Given the description of an element on the screen output the (x, y) to click on. 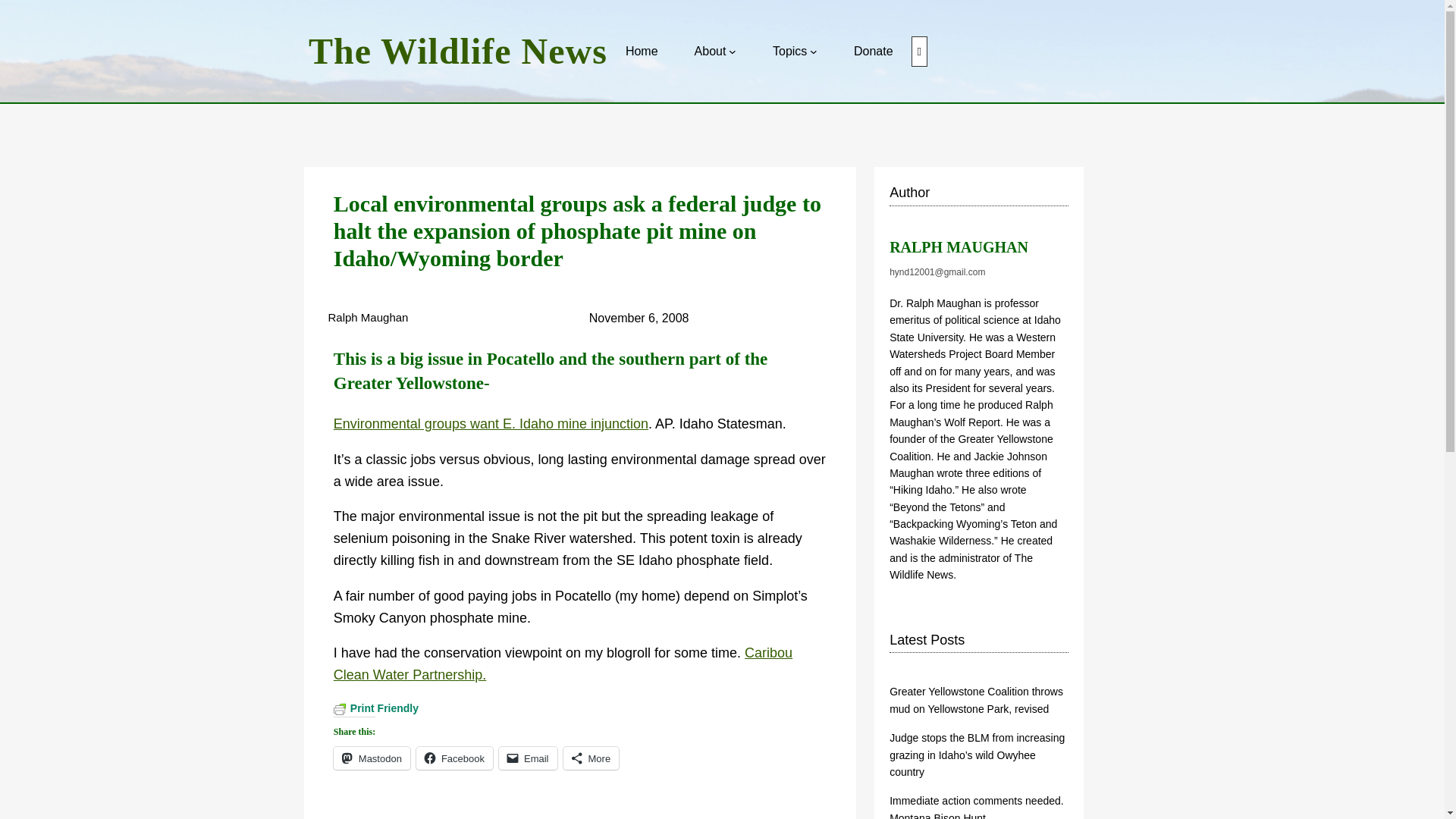
Click to share on Mastodon (371, 757)
Click to email a link to a friend (528, 757)
About (710, 51)
Home (642, 51)
Click to share on Facebook (454, 757)
The Wildlife News (457, 51)
Topics (789, 51)
